Given the description of an element on the screen output the (x, y) to click on. 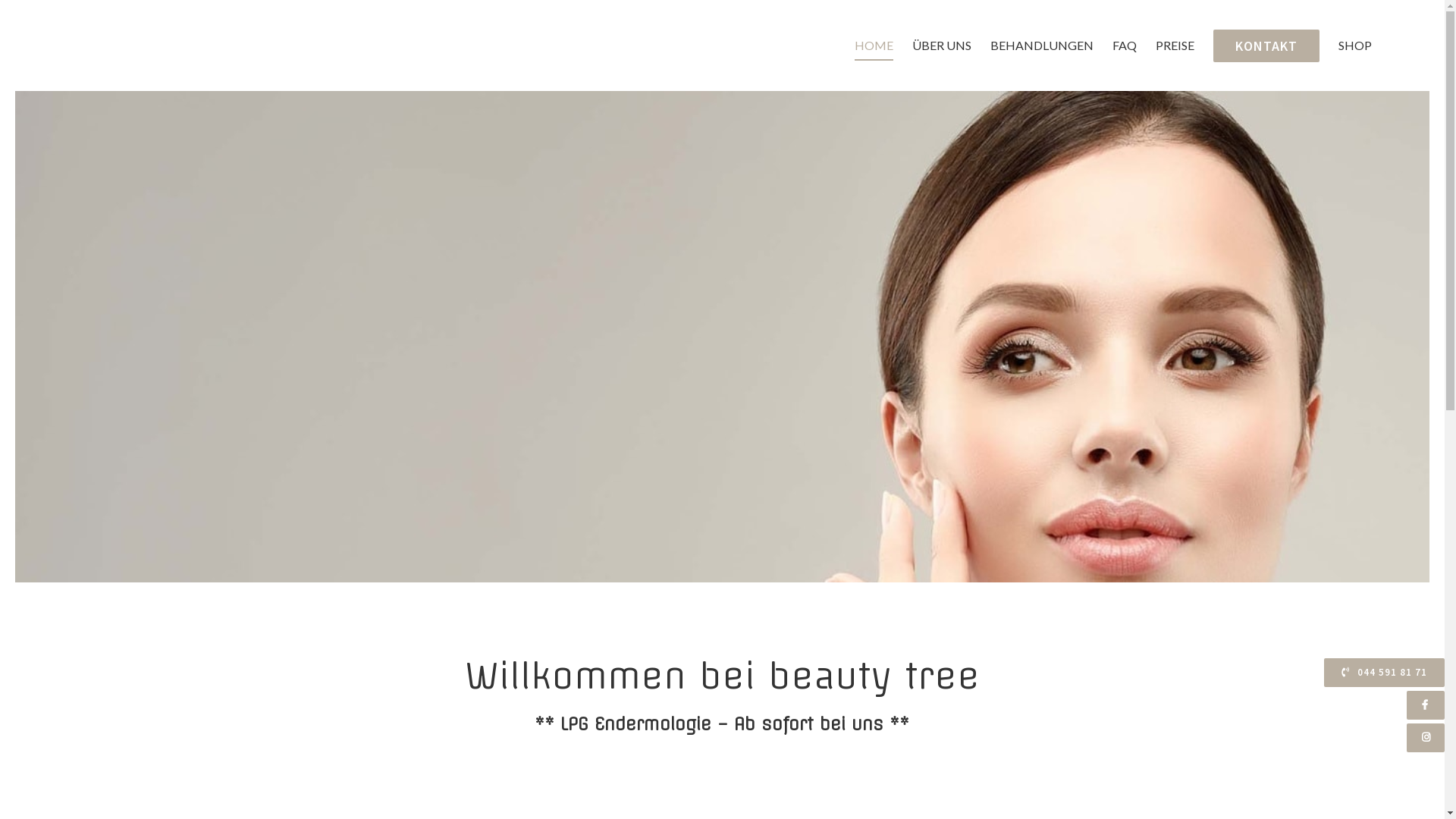
KONTAKT Element type: text (1266, 45)
logo Element type: hover (159, 336)
044 591 81 71 Element type: text (1384, 672)
SHOP Element type: text (1354, 45)
HOME Element type: text (873, 45)
BEHANDLUNGEN Element type: text (1041, 45)
FAQ Element type: text (1124, 45)
PREISE Element type: text (1174, 45)
